Given the description of an element on the screen output the (x, y) to click on. 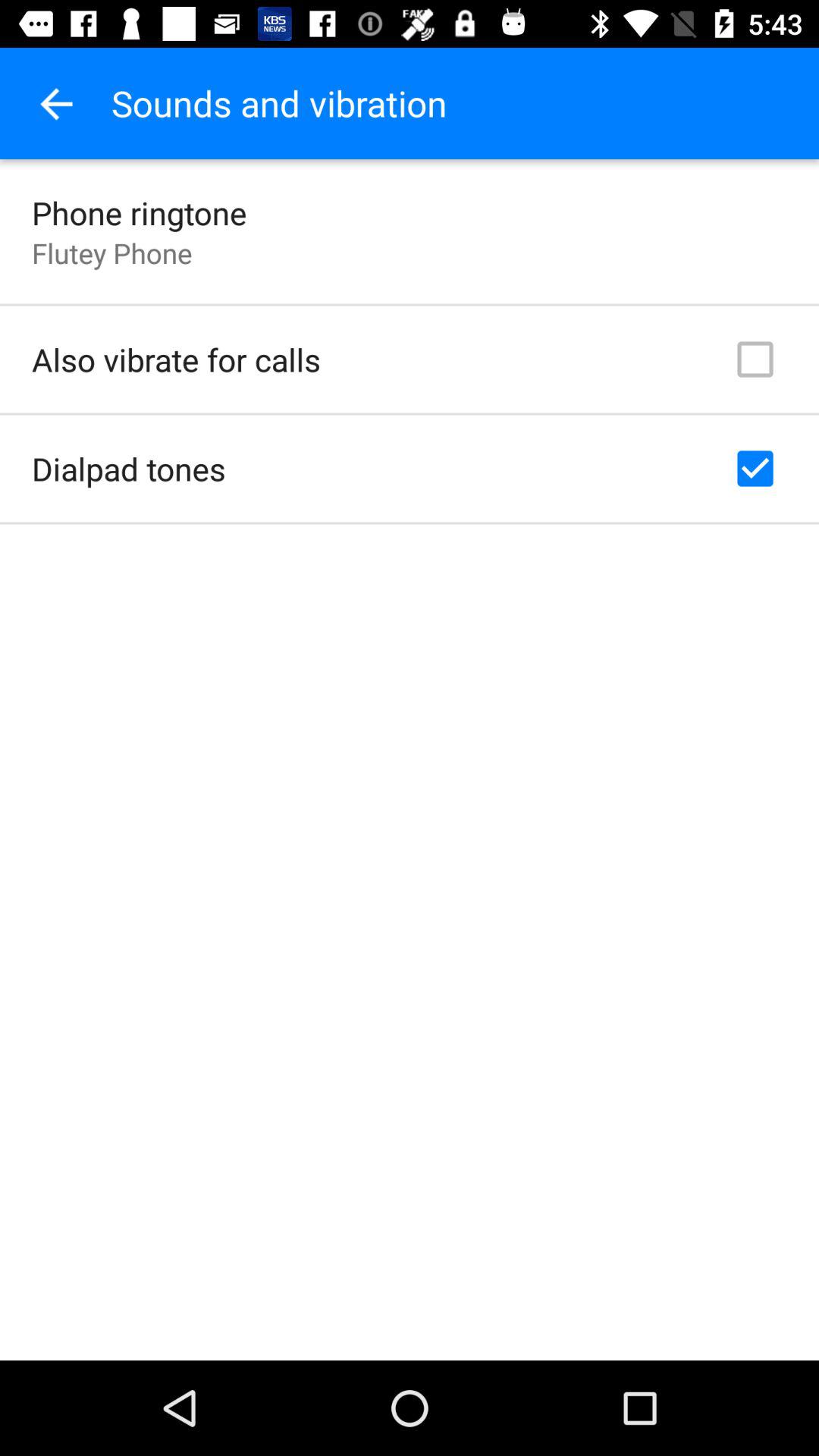
tap item below flutey phone item (175, 359)
